Given the description of an element on the screen output the (x, y) to click on. 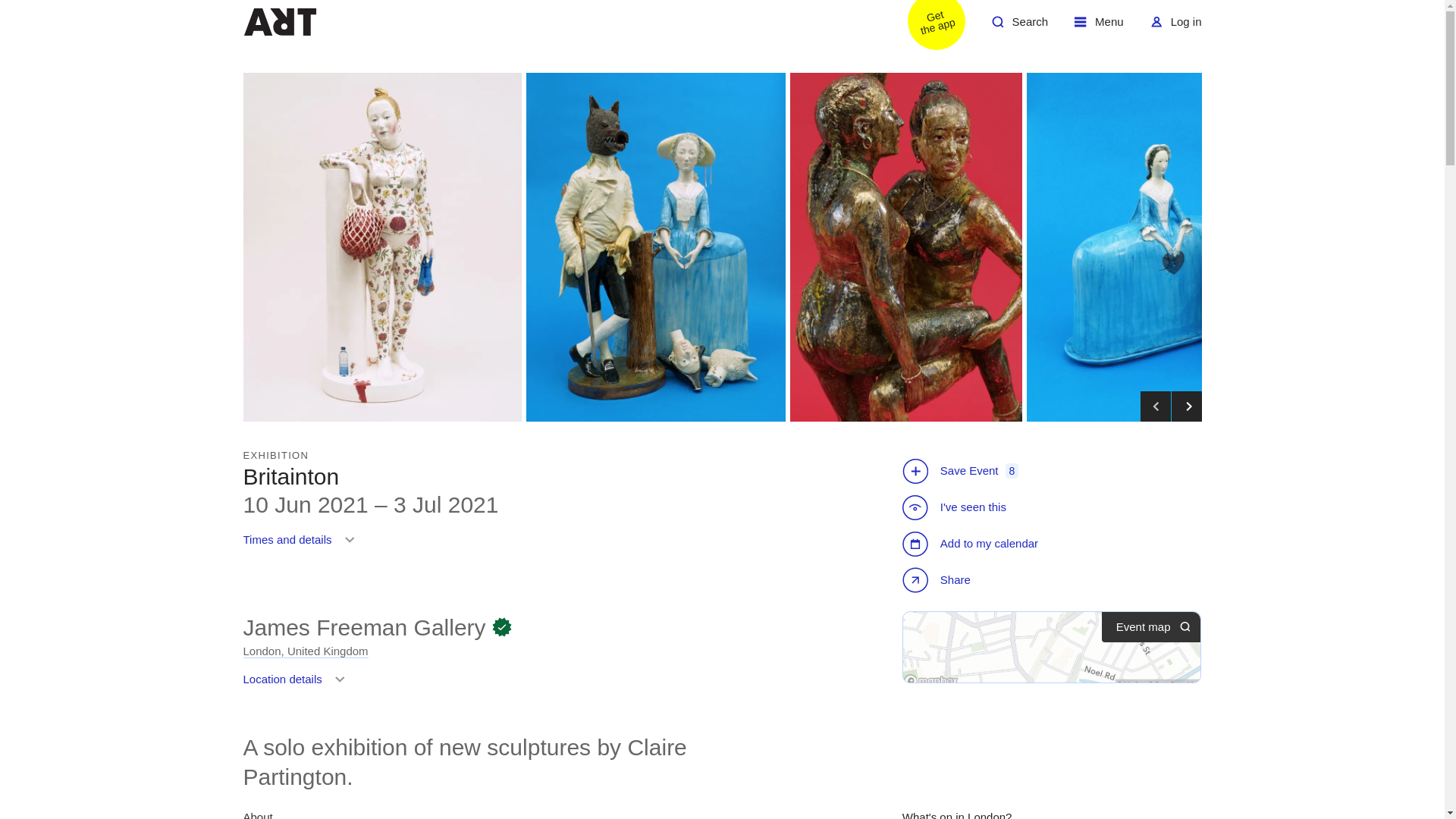
Add to my calendar (972, 543)
Share (926, 27)
Welcome to ArtRabbit (938, 581)
